Given the description of an element on the screen output the (x, y) to click on. 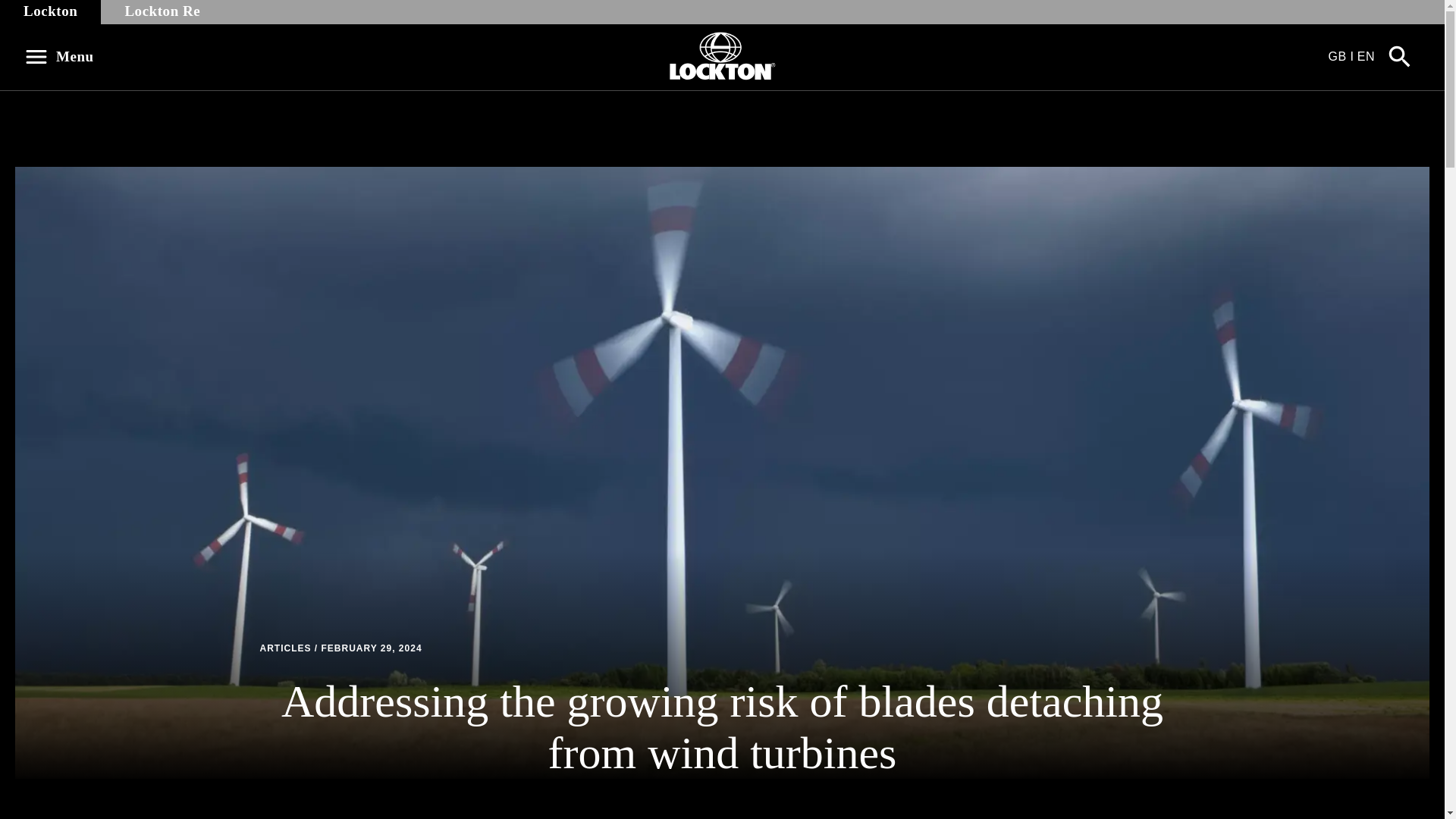
GBEN (1352, 56)
Skip to main content (19, 8)
Menu (63, 56)
